Given the description of an element on the screen output the (x, y) to click on. 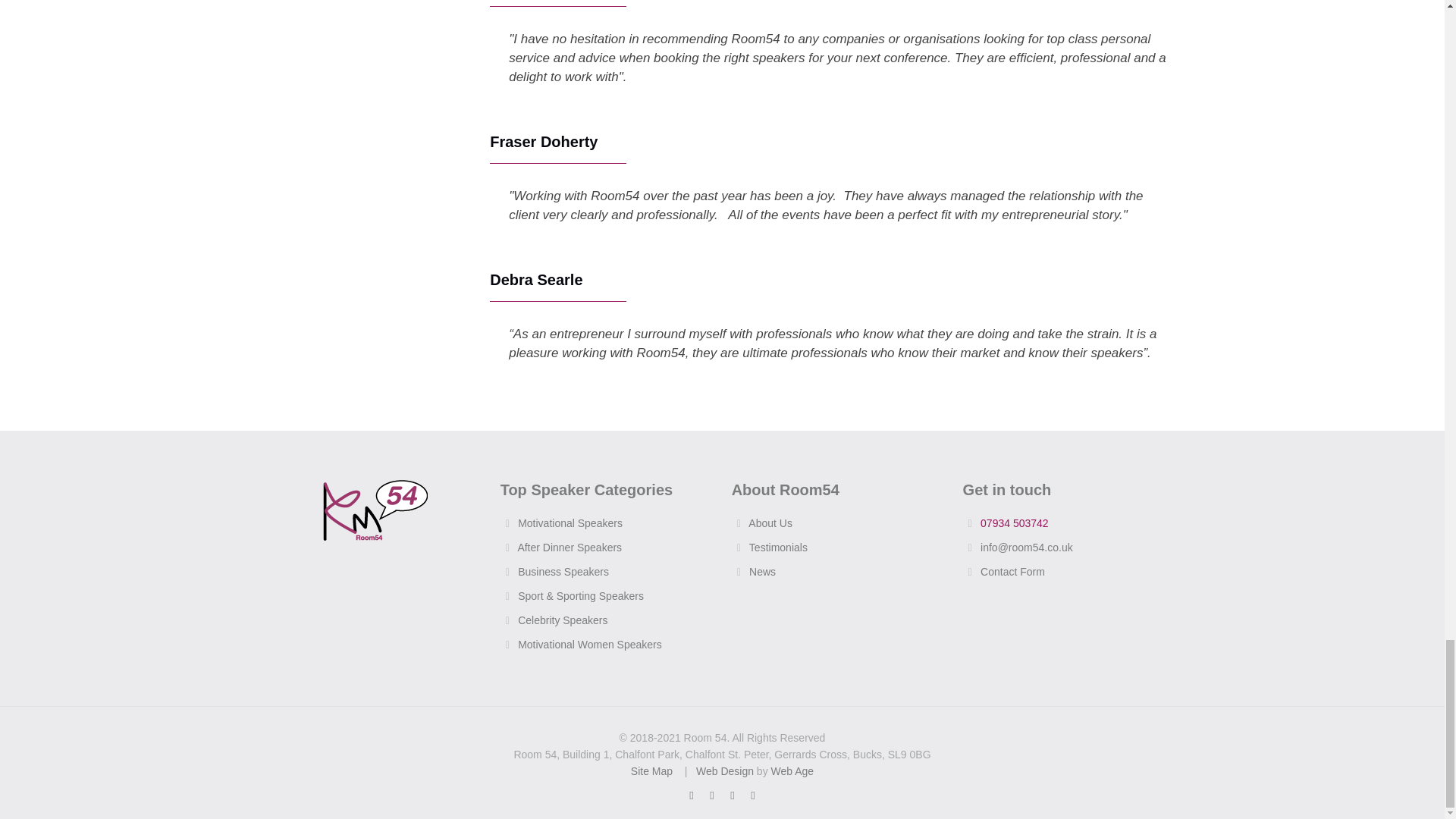
Twitter (711, 794)
Facebook (690, 794)
YouTube (731, 794)
LinkedIn (752, 794)
